Given the description of an element on the screen output the (x, y) to click on. 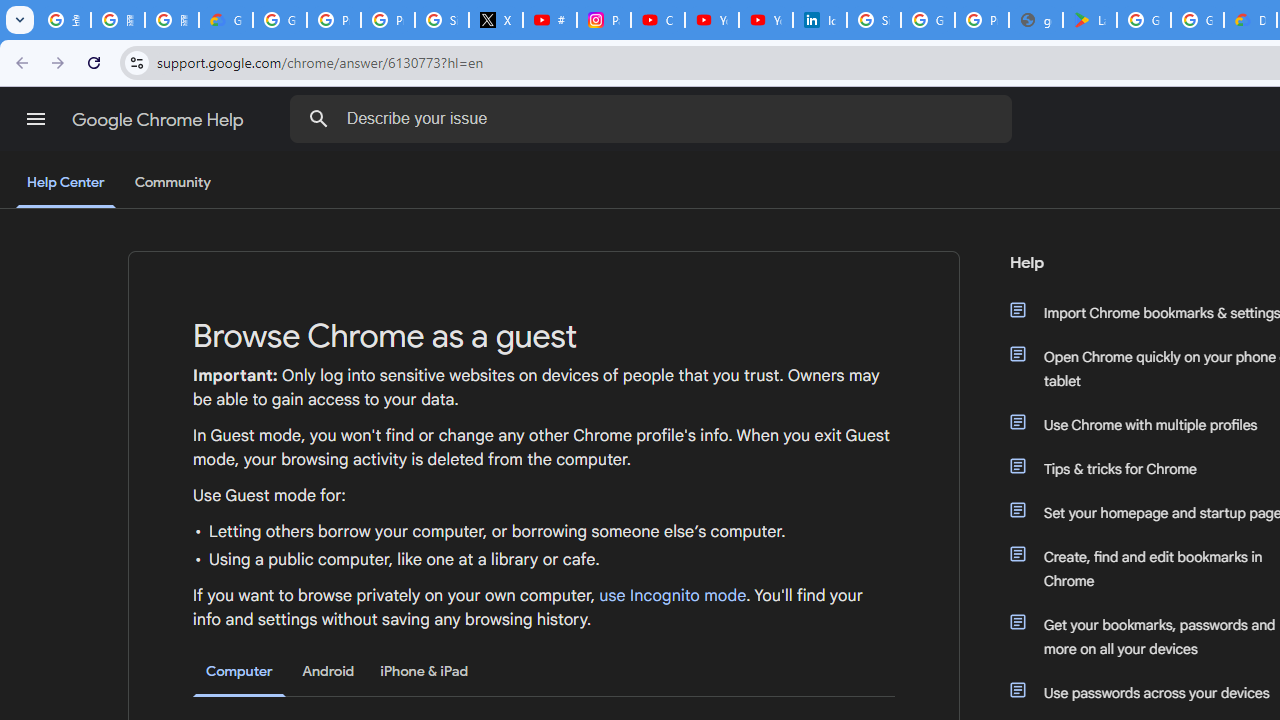
Google Workspace - Specific Terms (1197, 20)
Search Help Center (318, 118)
Google Chrome Help (159, 119)
Last Shelter: Survival - Apps on Google Play (1089, 20)
YouTube Culture & Trends - YouTube Top 10, 2021 (765, 20)
iPhone & iPad (424, 671)
X (495, 20)
Google Cloud Privacy Notice (225, 20)
Community (171, 183)
